Given the description of an element on the screen output the (x, y) to click on. 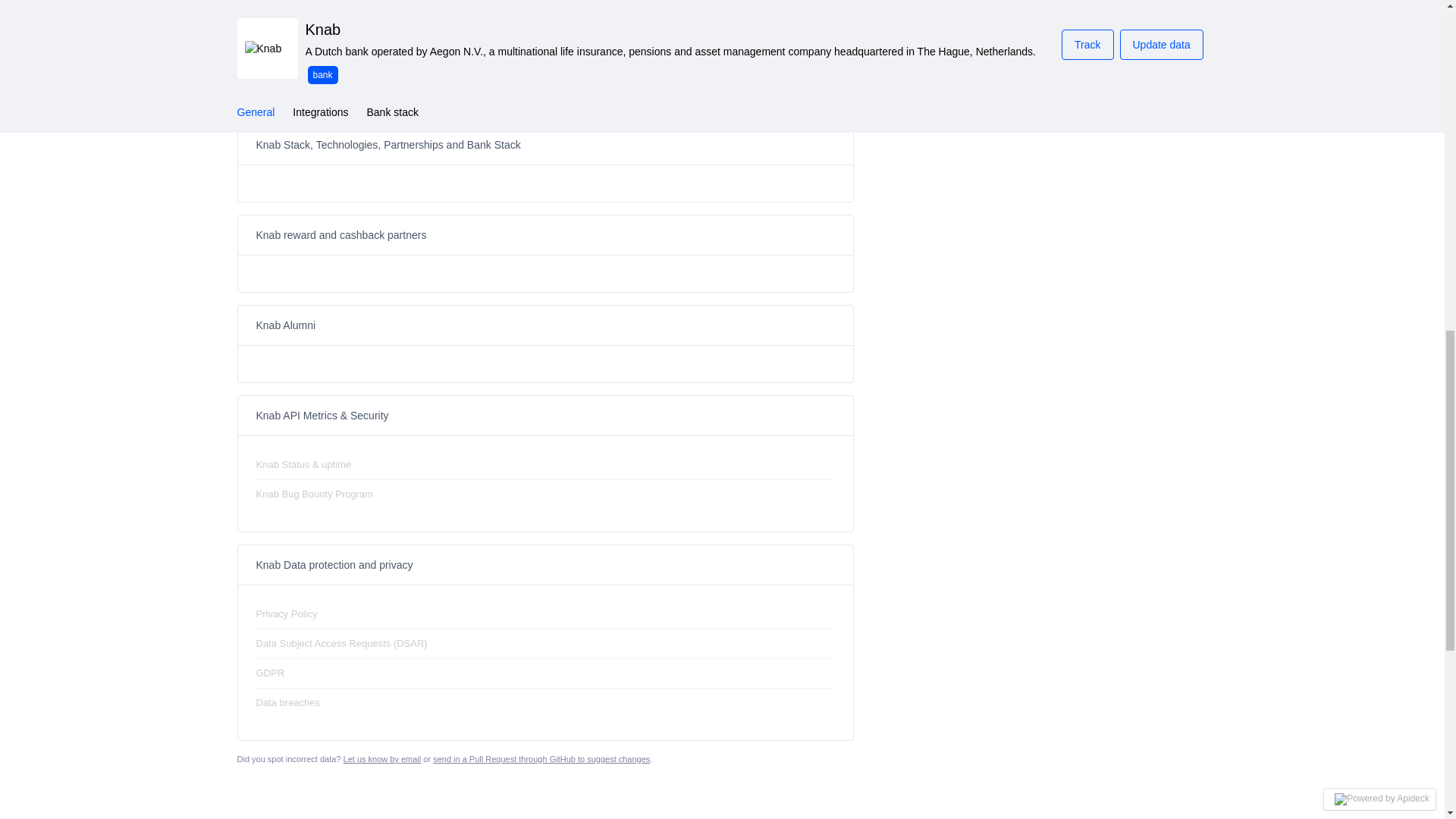
Let us know by email (382, 758)
send in a Pull Request through GitHub to suggest changes (540, 758)
